Given the description of an element on the screen output the (x, y) to click on. 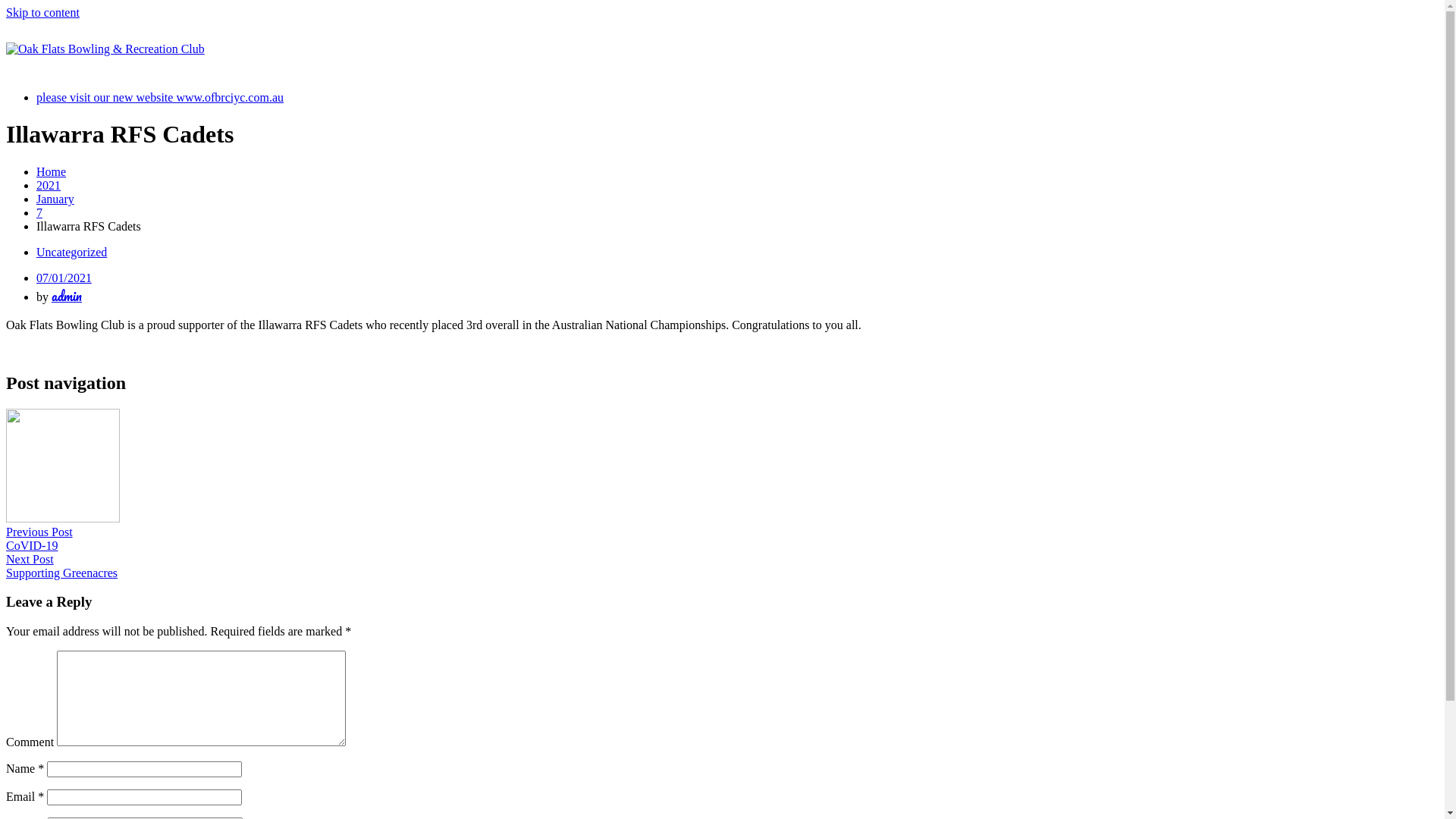
please visit our new website www.ofbrciyc.com.au Element type: text (159, 97)
7 Element type: text (39, 212)
Next Post
Supporting Greenacres Element type: text (722, 566)
Skip to content Element type: text (42, 12)
Home Element type: text (50, 171)
07/01/2021 Element type: text (63, 277)
Uncategorized Element type: text (71, 251)
admin Element type: text (66, 295)
Previous Post
CoVID-19 Element type: text (722, 480)
2021 Element type: text (48, 184)
January Element type: text (55, 198)
